Given the description of an element on the screen output the (x, y) to click on. 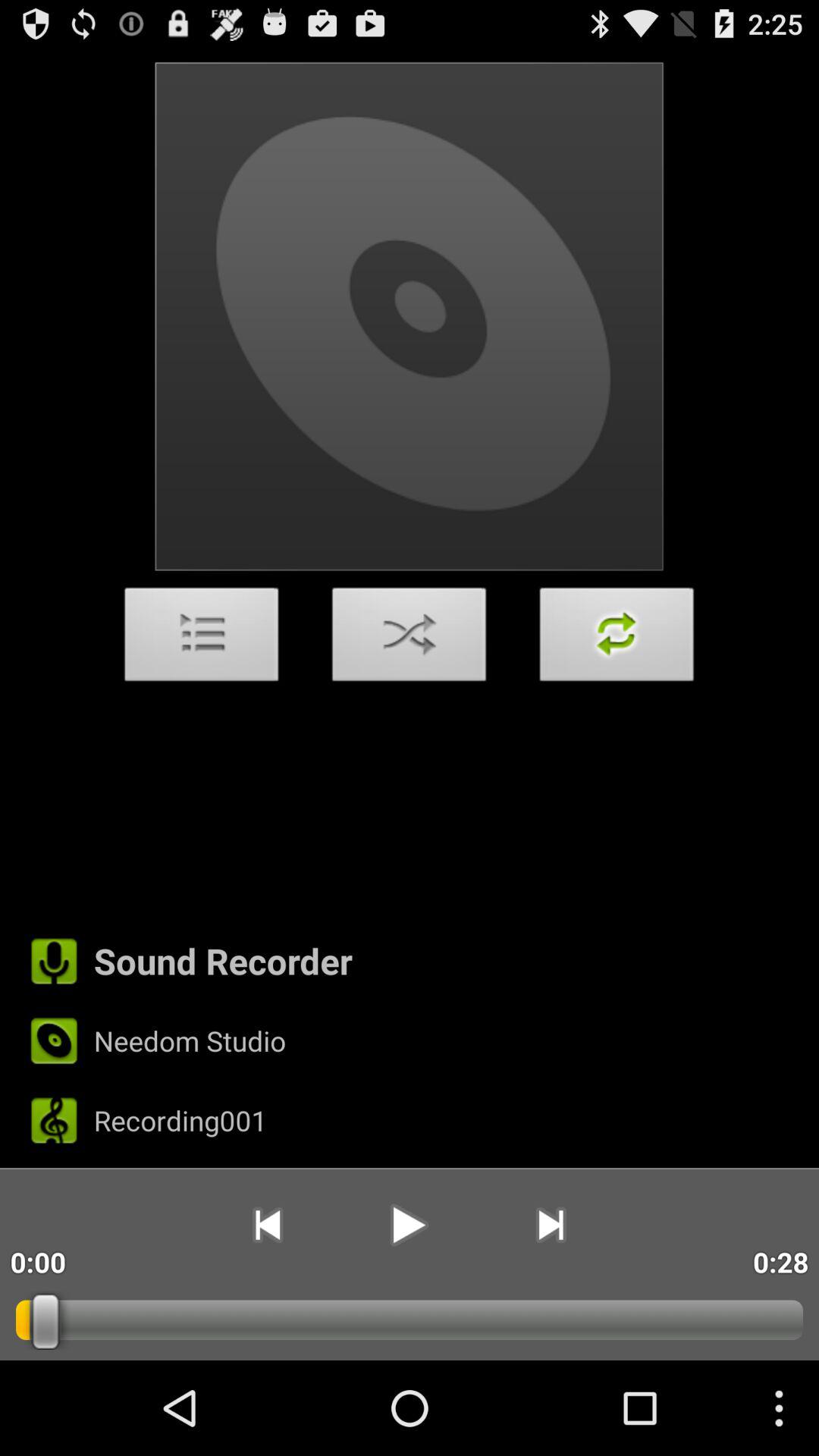
press the item to the left of the 0:28 (550, 1224)
